Given the description of an element on the screen output the (x, y) to click on. 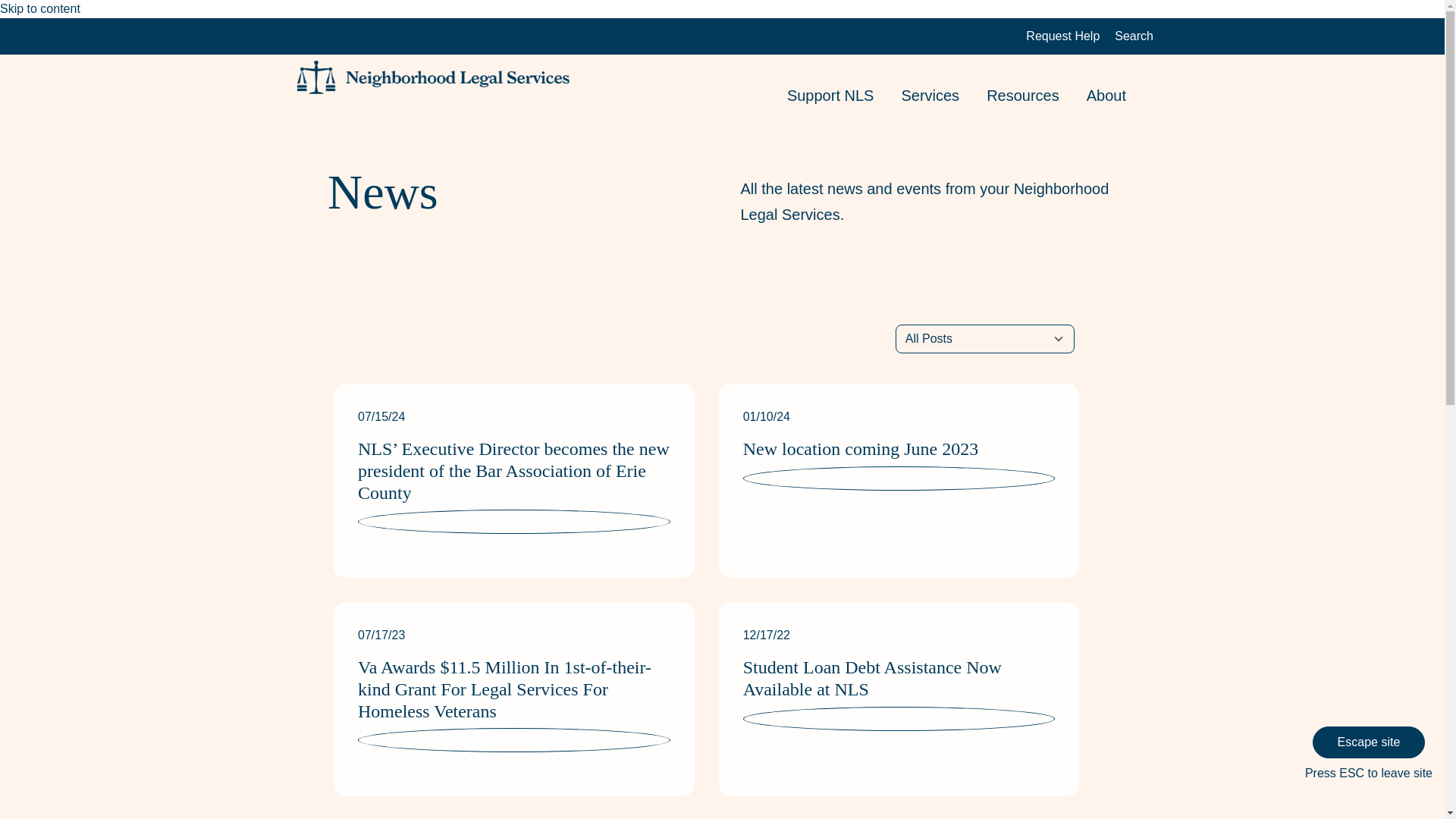
Services (944, 96)
Support NLS (844, 96)
Skip to content (40, 8)
Search (1134, 36)
Request Help (1062, 36)
Resources (1036, 96)
About (1119, 96)
